Given the description of an element on the screen output the (x, y) to click on. 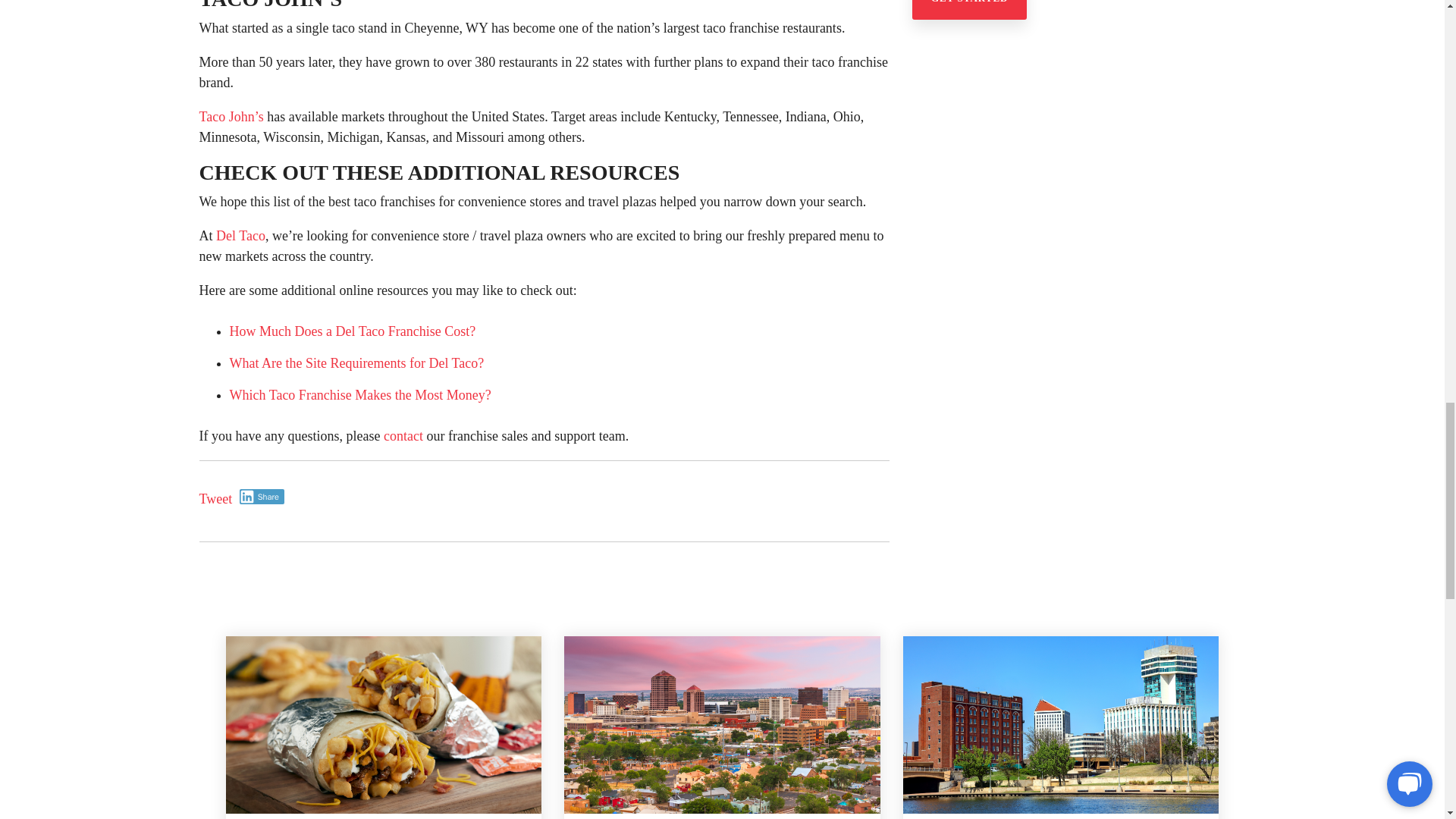
Get Started (968, 9)
